Given the description of an element on the screen output the (x, y) to click on. 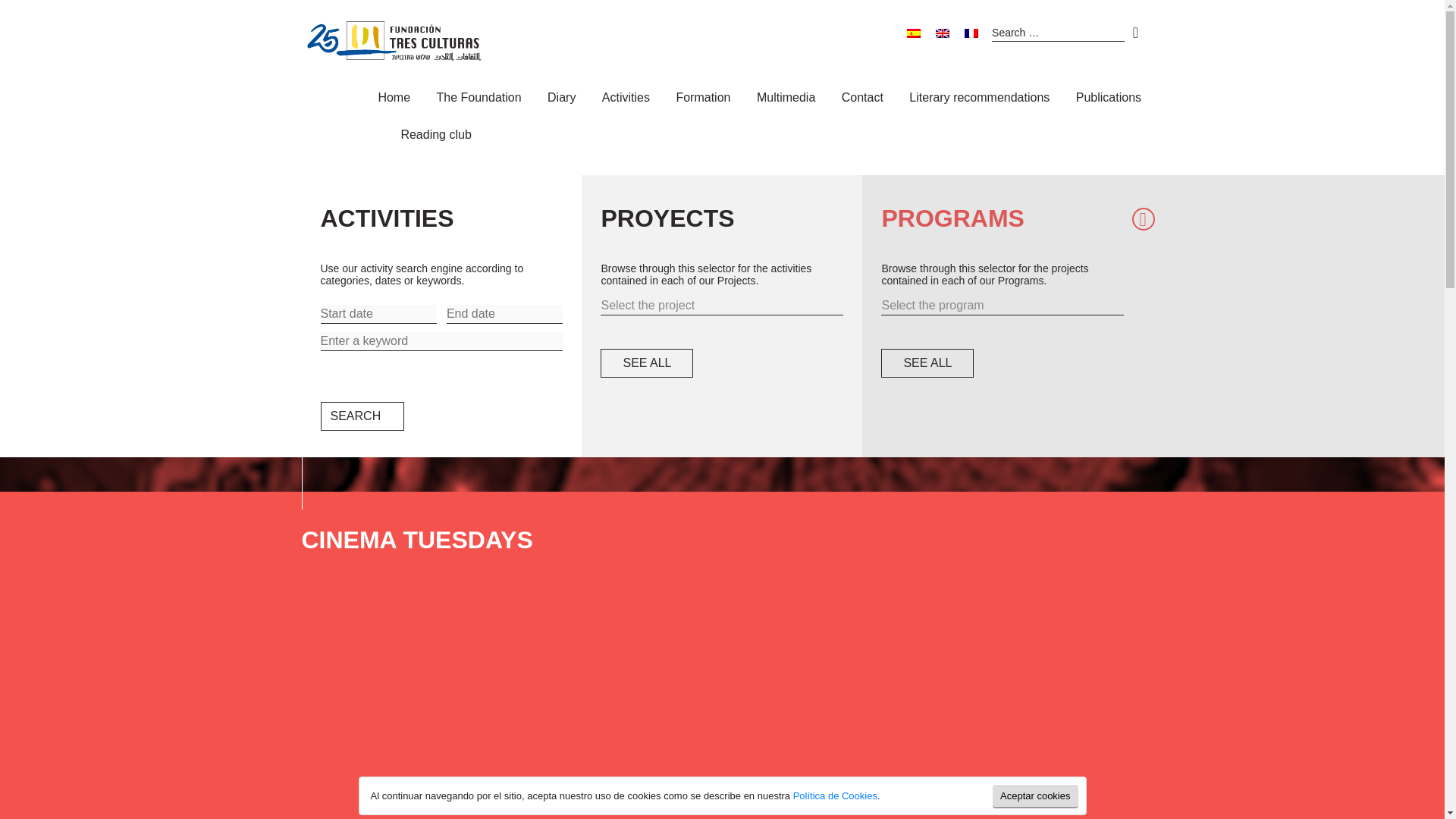
Literary recommendations (978, 100)
Search (362, 416)
English (942, 32)
Search for: (1057, 33)
Publications (1108, 100)
Multimedia (786, 100)
Reading club (435, 137)
The Foundation (478, 100)
Diary (561, 100)
Formation (702, 100)
Search (362, 416)
Contact (862, 100)
Activities (625, 100)
Home (393, 100)
